Given the description of an element on the screen output the (x, y) to click on. 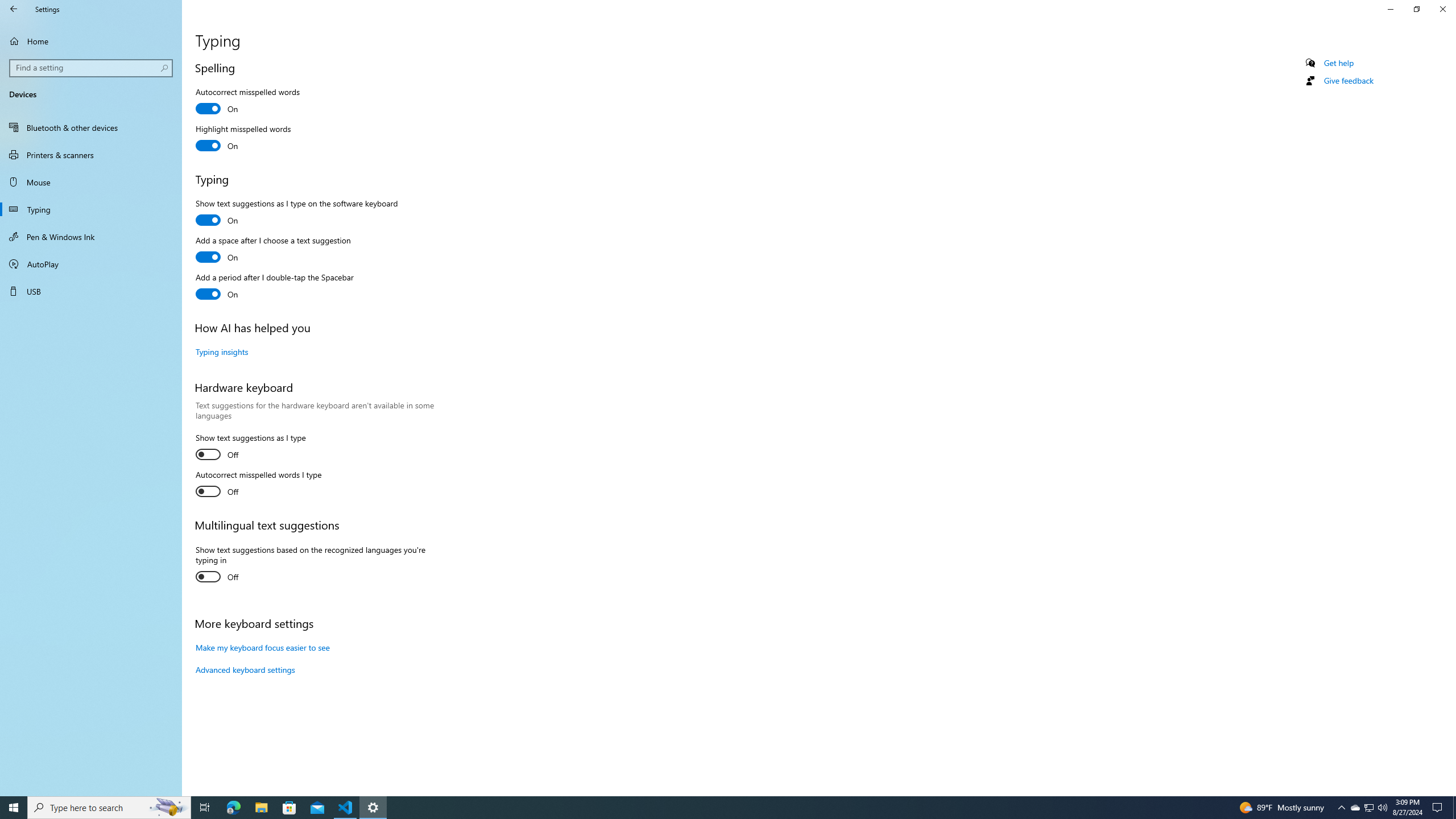
Action Center, No new notifications (1439, 807)
Home (91, 40)
Task View (204, 807)
Show text suggestions as I type (250, 447)
Give feedback (1348, 80)
Running applications (717, 807)
Add a space after I choose a text suggestion (272, 250)
Typing (91, 208)
User Promoted Notification Area (1368, 807)
Autocorrect misspelled words (247, 101)
Printers & scanners (91, 154)
Q2790: 100% (1382, 807)
Show desktop (1454, 807)
